Given the description of an element on the screen output the (x, y) to click on. 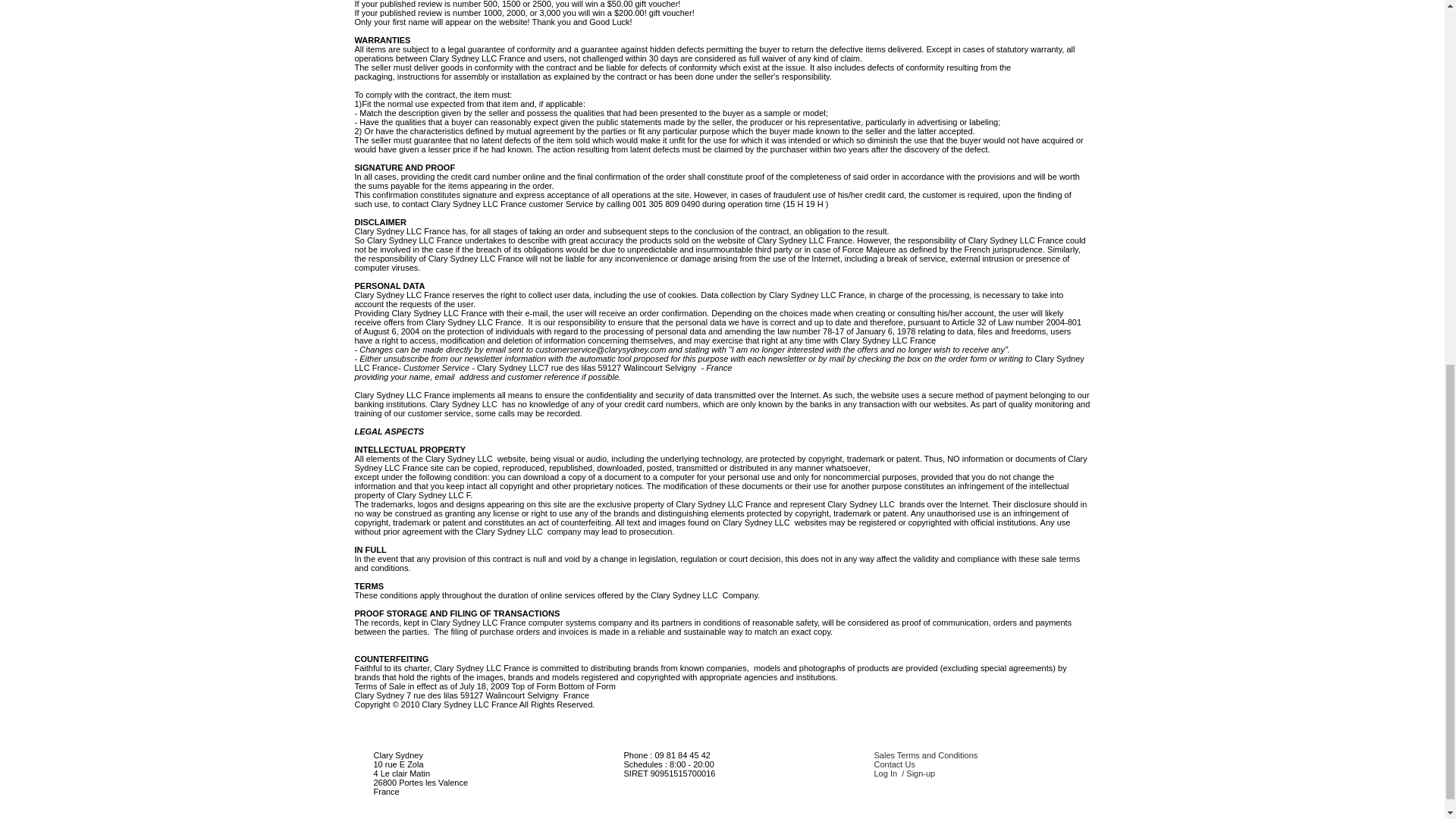
Sales Terms and Conditions (924, 755)
Contact Us (893, 764)
